Given the description of an element on the screen output the (x, y) to click on. 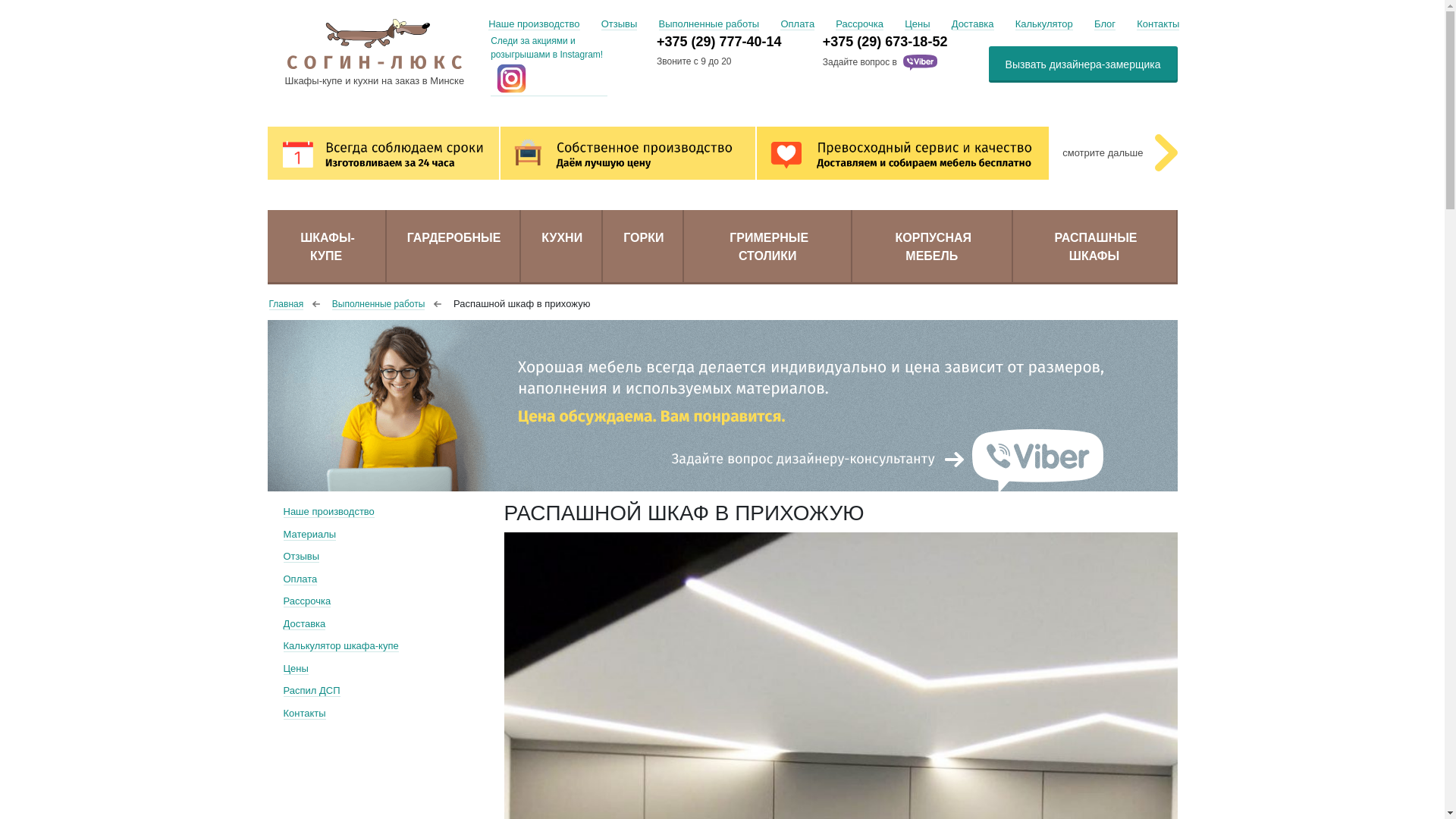
+375 (29) 673-18-52 Element type: text (905, 41)
+375 (29) 777-40-14 Element type: text (739, 41)
